Given the description of an element on the screen output the (x, y) to click on. 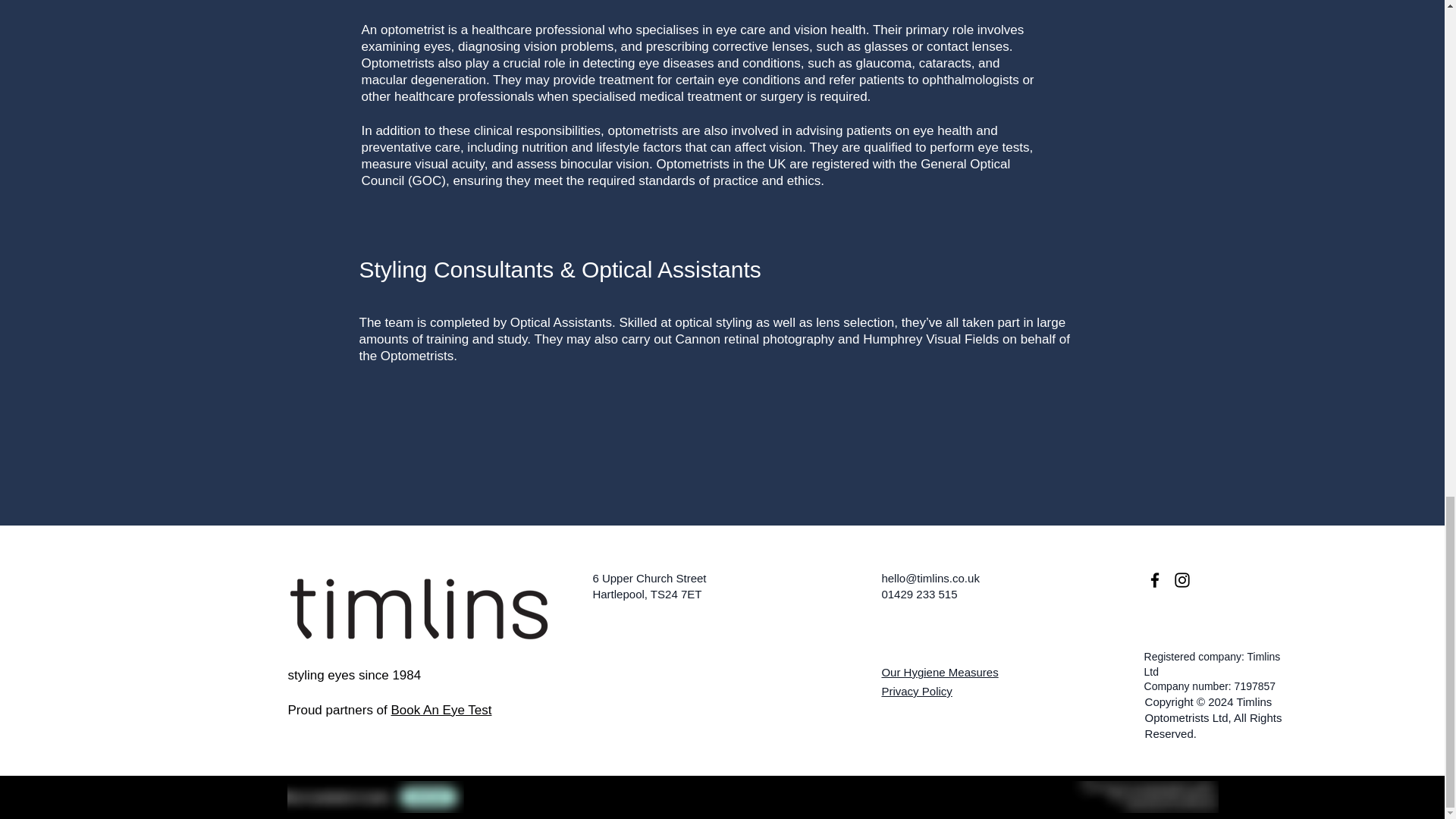
Our Hygiene Measures (938, 671)
Book An Eye Test (441, 709)
01429 233 515 (918, 594)
Privacy Policy (916, 690)
